Given the description of an element on the screen output the (x, y) to click on. 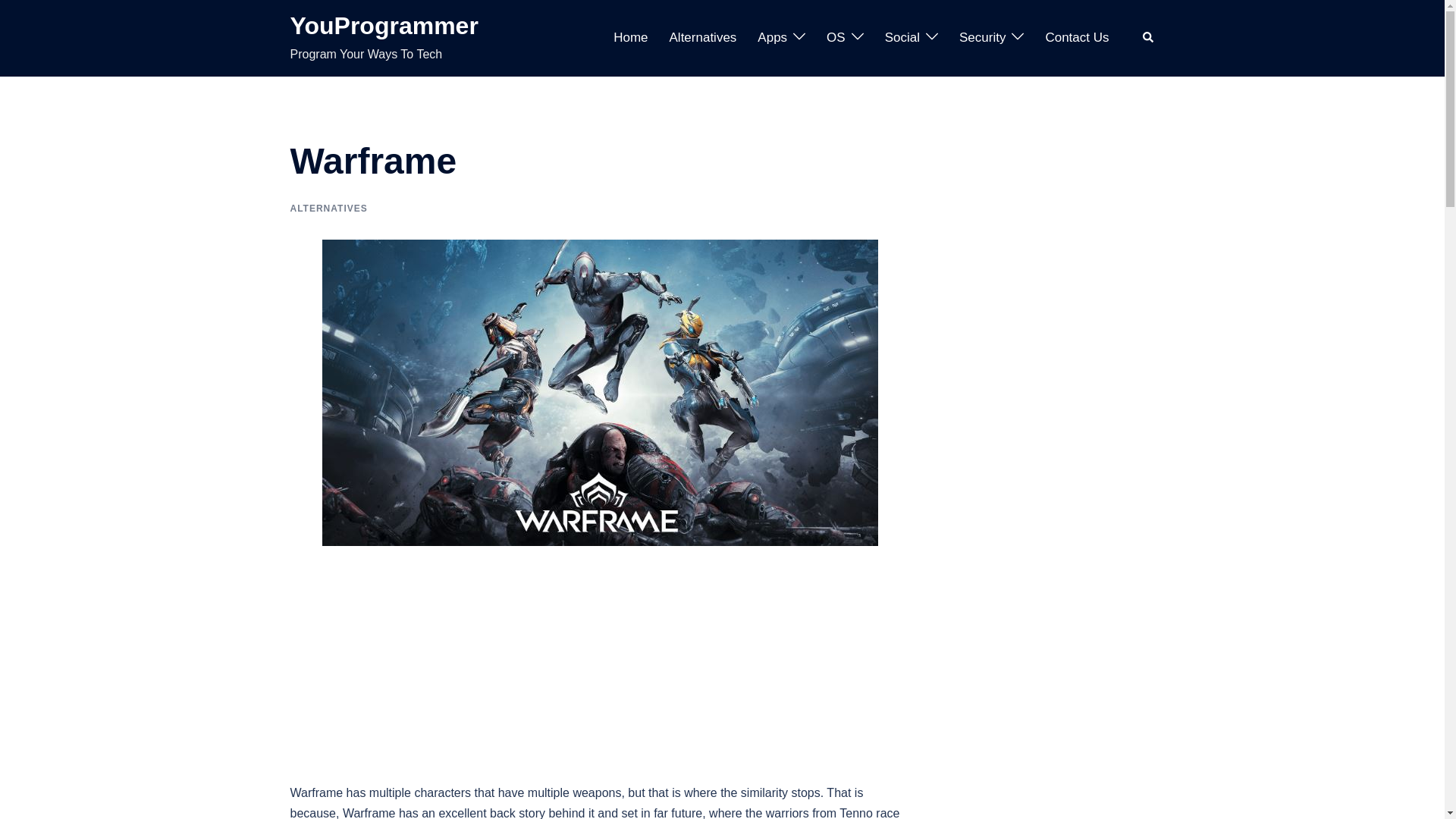
YouProgrammer (383, 25)
Social (902, 38)
Advertisement (1054, 746)
Search (1147, 37)
Security (982, 38)
Apps (772, 38)
Home (629, 38)
Alternatives (702, 38)
Contact Us (1076, 38)
Advertisement (599, 670)
